Given the description of an element on the screen output the (x, y) to click on. 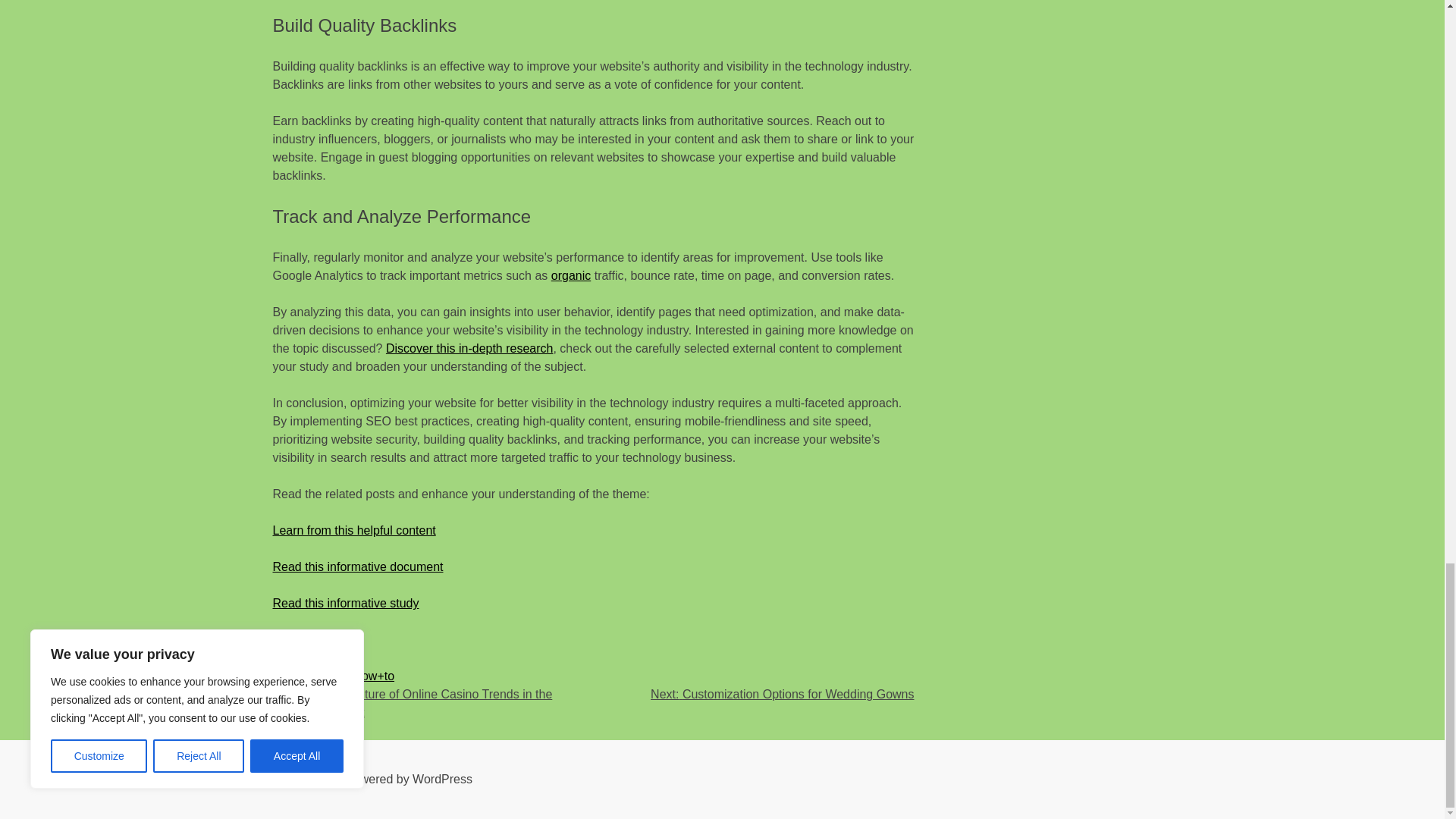
Next: Customization Options for Wedding Gowns (782, 694)
Study further (307, 639)
Read this informative document (358, 566)
Read this informative study (346, 603)
organic (571, 275)
Discover this in-depth research (469, 348)
Learn from this helpful content (354, 530)
